Given the description of an element on the screen output the (x, y) to click on. 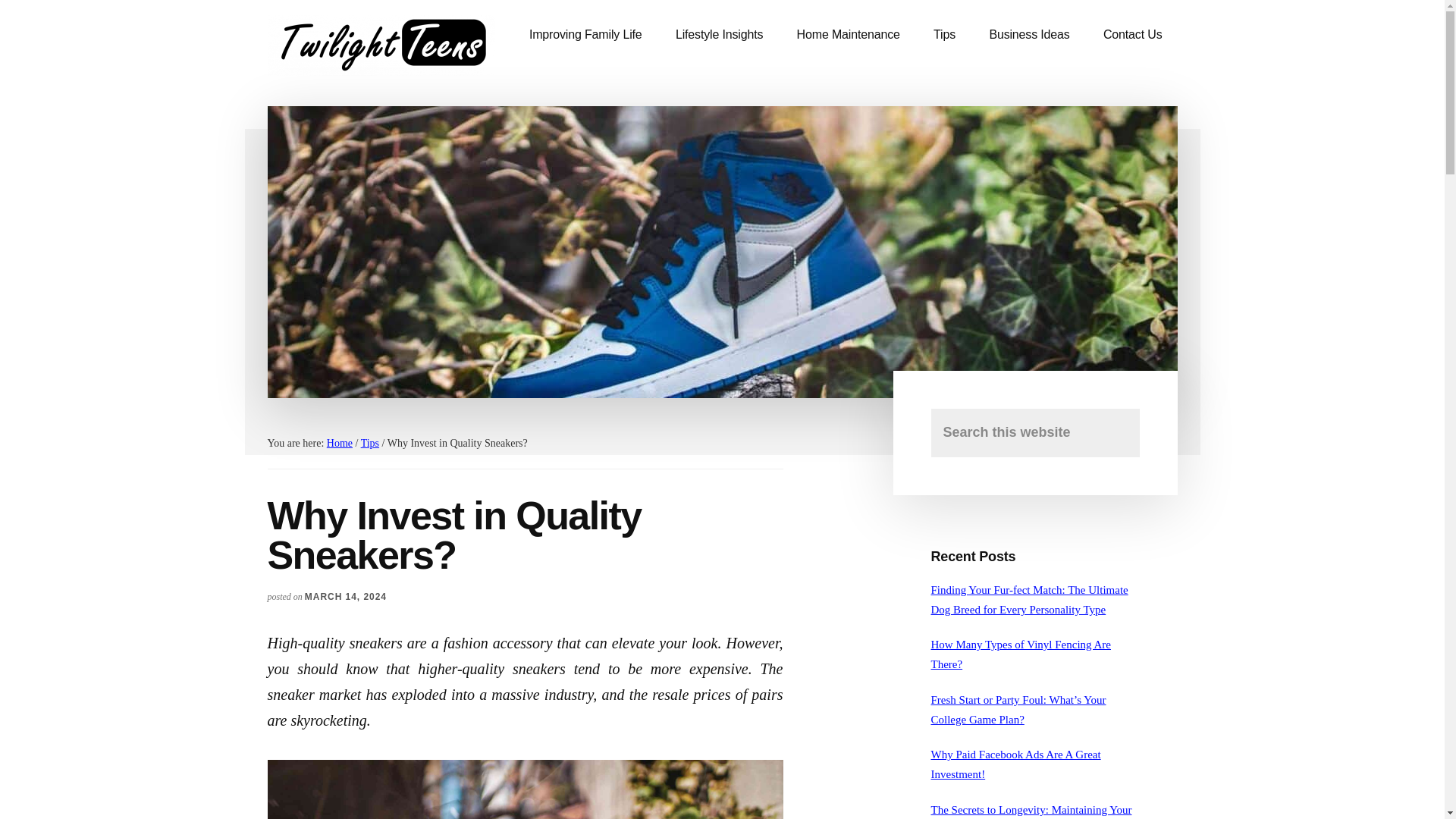
Contact Us (1132, 34)
Lifestyle Insights (719, 34)
Tips (944, 34)
How Many Types of Vinyl Fencing Are There? (1020, 654)
Improving Family Life (585, 34)
Business Ideas (1029, 34)
